Given the description of an element on the screen output the (x, y) to click on. 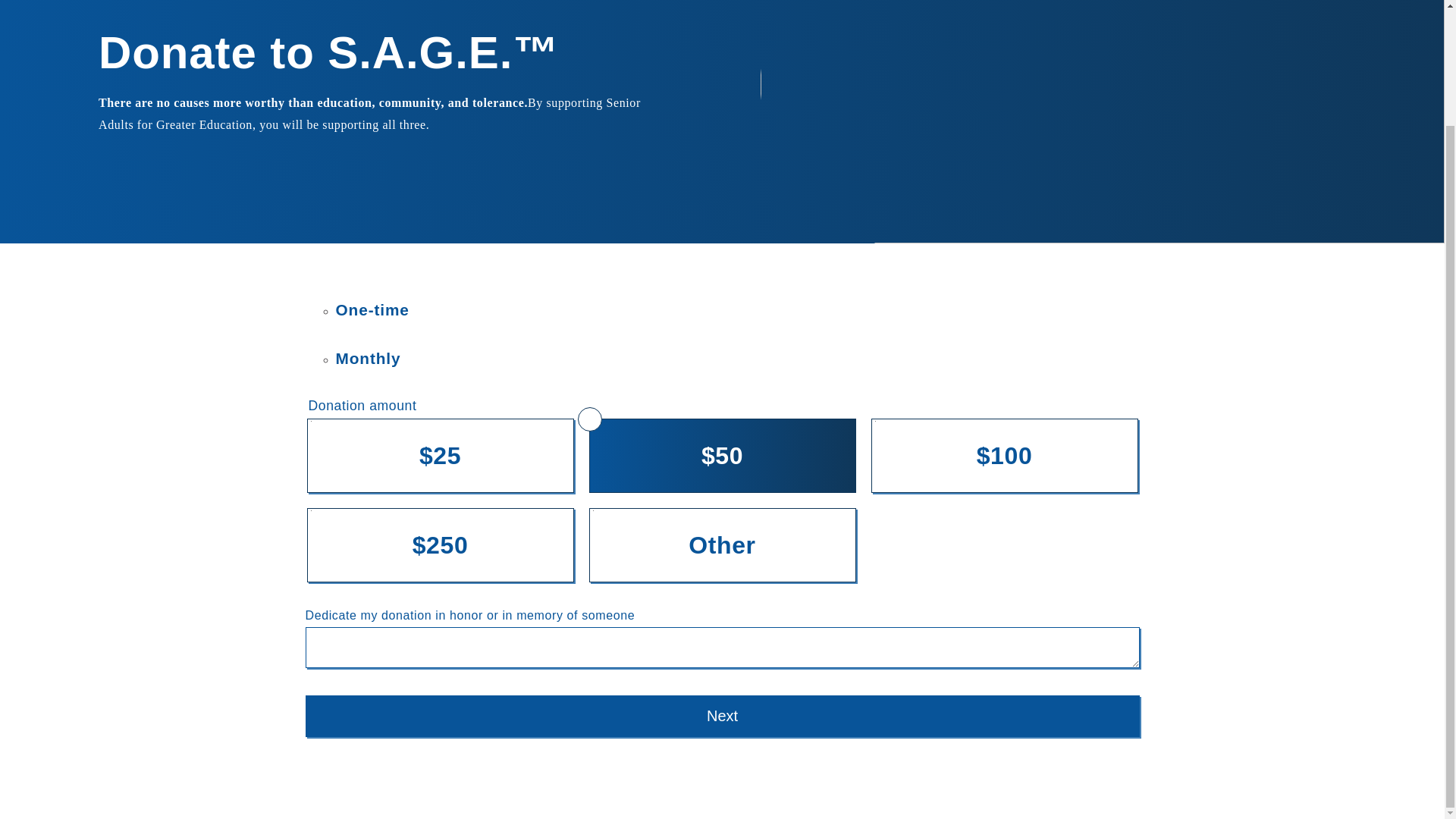
One-time (371, 310)
Next (721, 716)
Monthly (367, 359)
